Given the description of an element on the screen output the (x, y) to click on. 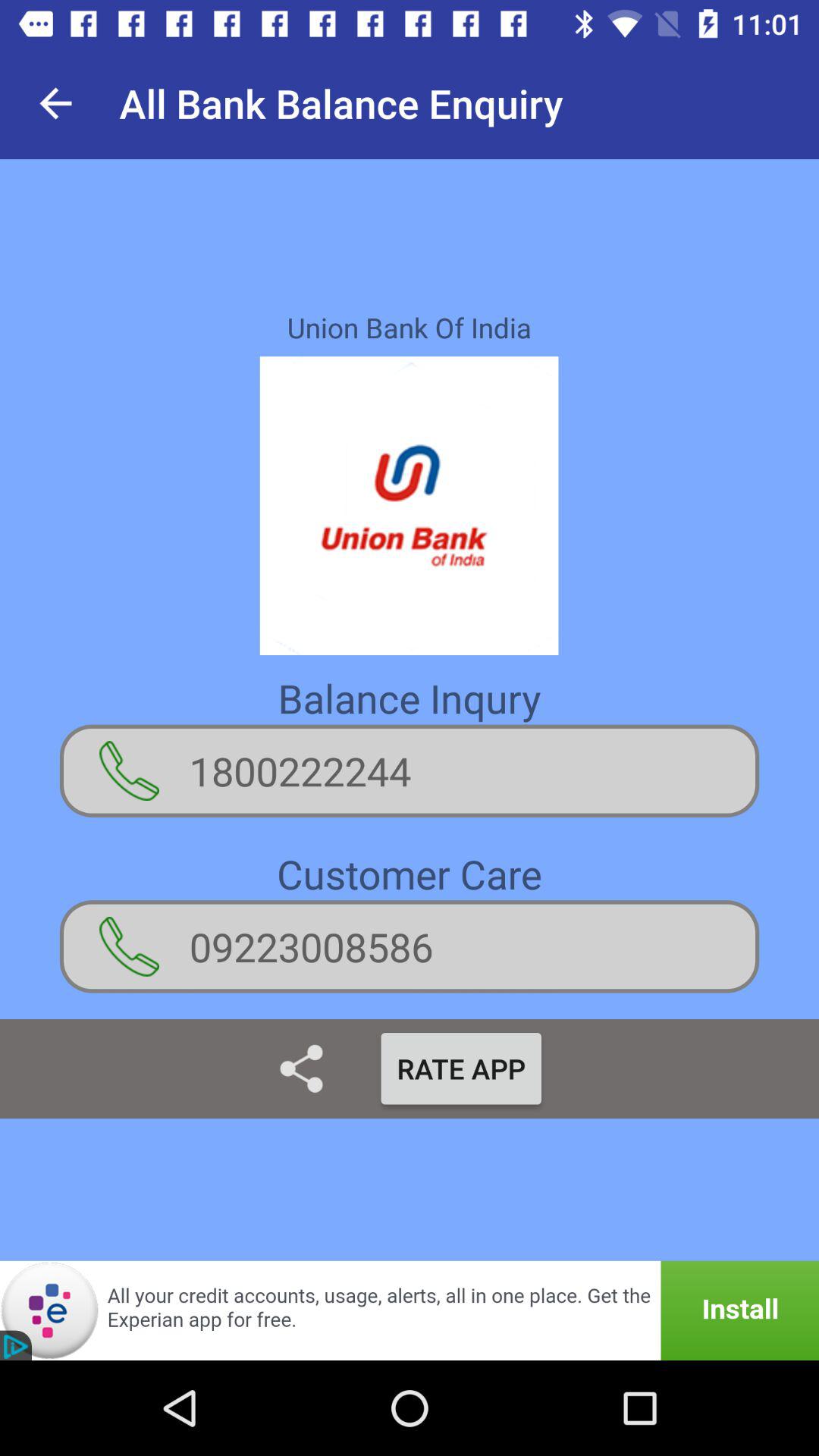
go to the icon left to the number 1800222244 (128, 770)
select the image which is below union bank of india (409, 505)
click on rate app button (461, 1068)
